Given the description of an element on the screen output the (x, y) to click on. 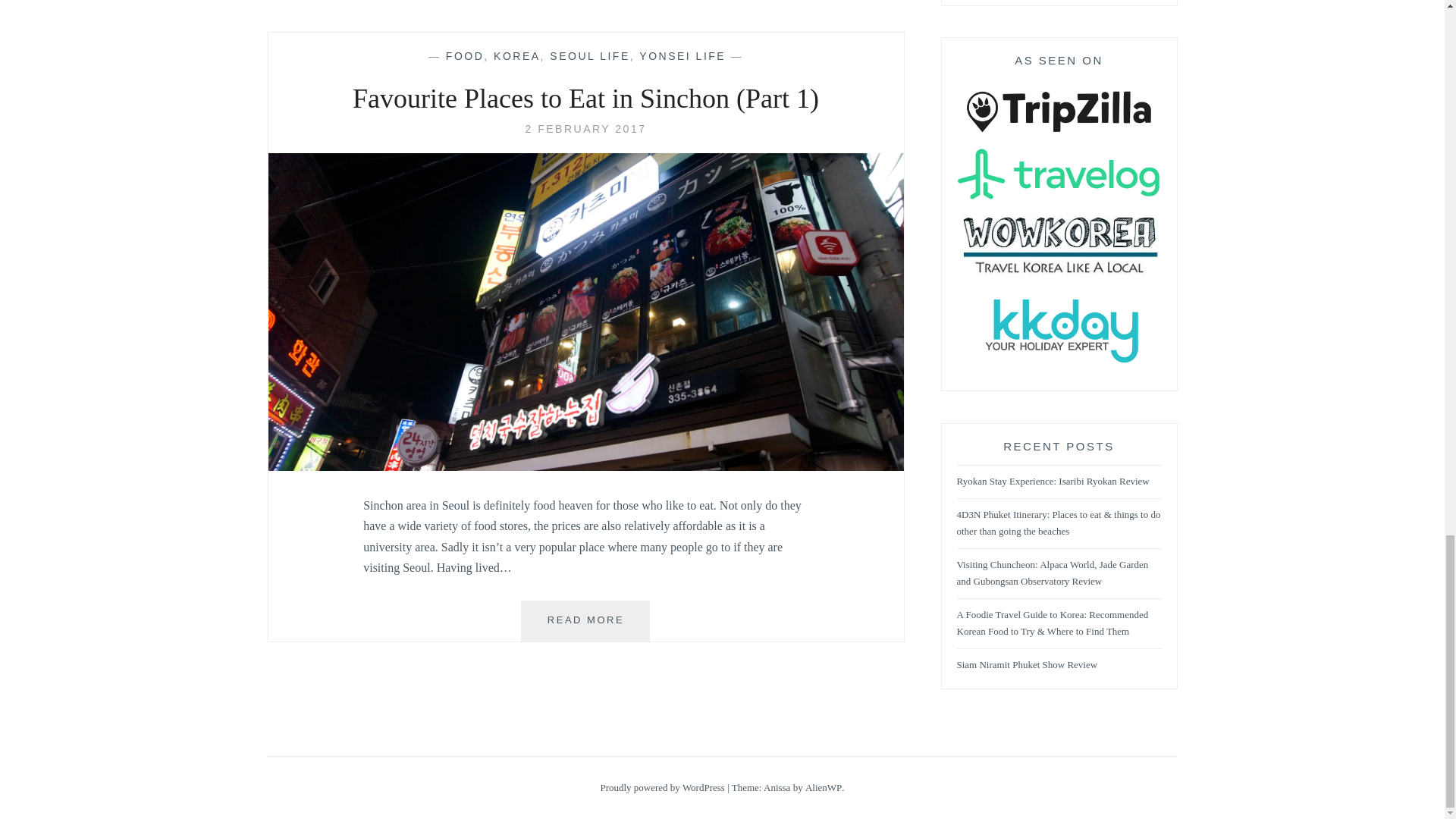
SEOUL LIFE (589, 55)
FOOD (464, 55)
YONSEI LIFE (682, 55)
KOREA (516, 55)
